Given the description of an element on the screen output the (x, y) to click on. 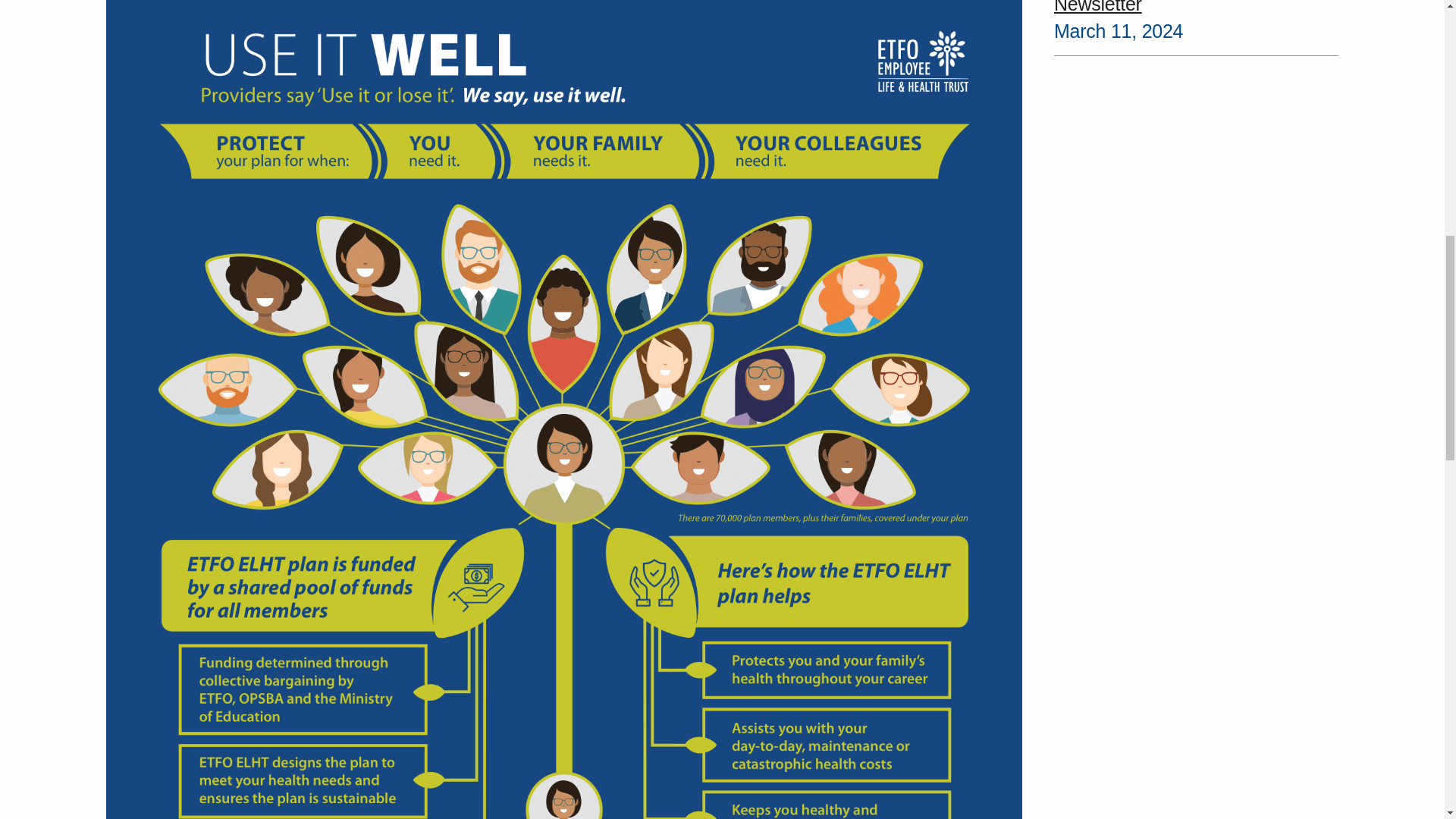
Spring 2024 Issue: Your Benefits Newsletter (1196, 8)
